Given the description of an element on the screen output the (x, y) to click on. 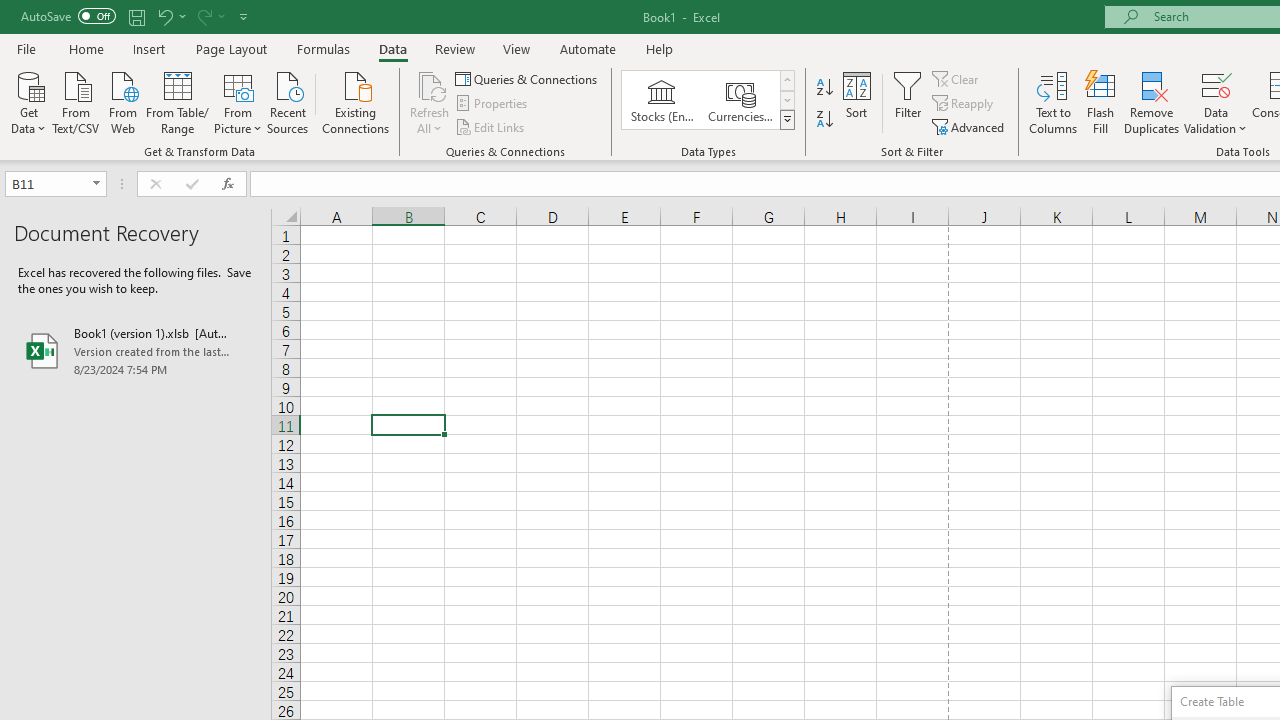
View (517, 48)
Filter (908, 102)
Home (86, 48)
Currencies (English) (740, 100)
Refresh All (429, 102)
Insert (149, 48)
Queries & Connections (527, 78)
Existing Connections (355, 101)
Properties (492, 103)
Help (660, 48)
Quick Access Toolbar (136, 16)
Data Validation... (1215, 102)
Refresh All (429, 84)
File Tab (26, 48)
